Given the description of an element on the screen output the (x, y) to click on. 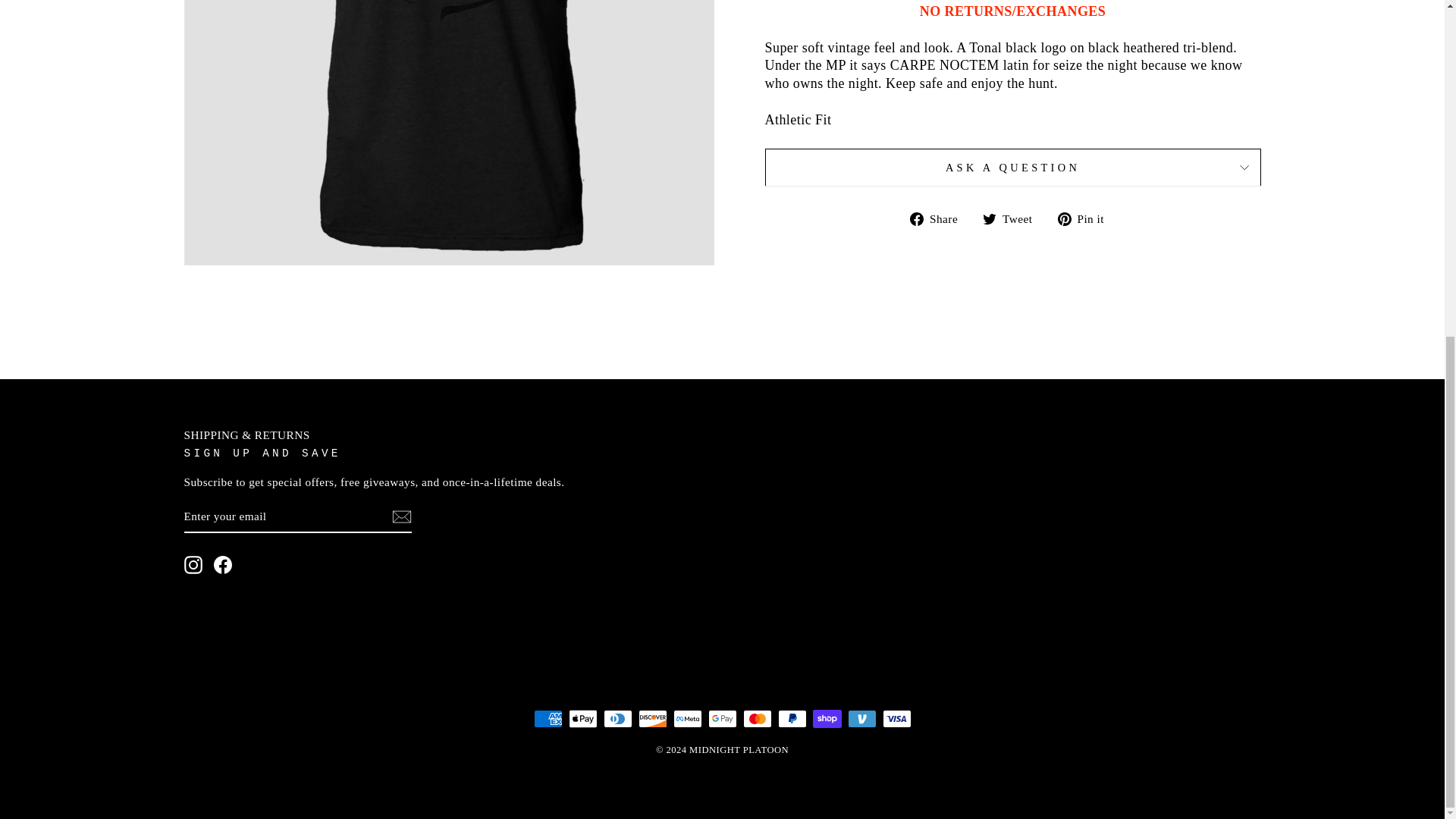
Diners Club (617, 719)
Discover (652, 719)
Pin on Pinterest (1086, 217)
MIDNIGHT PLATOON on Facebook (222, 565)
Apple Pay (582, 719)
instagram (192, 565)
MIDNIGHT PLATOON on Instagram (192, 565)
icon-email (400, 516)
twitter (988, 219)
Share on Facebook (939, 217)
